Given the description of an element on the screen output the (x, y) to click on. 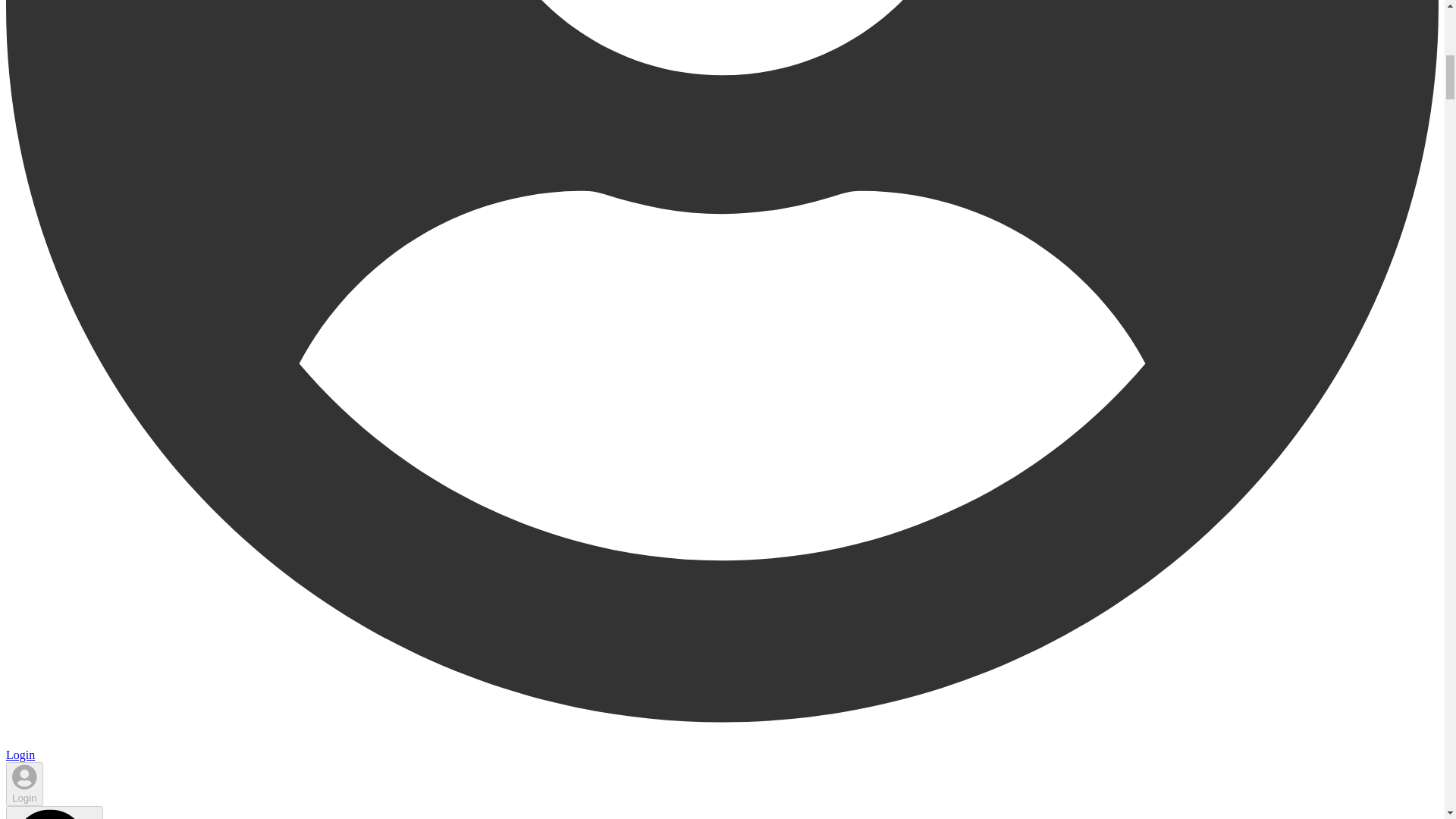
Select Language (54, 812)
